Given the description of an element on the screen output the (x, y) to click on. 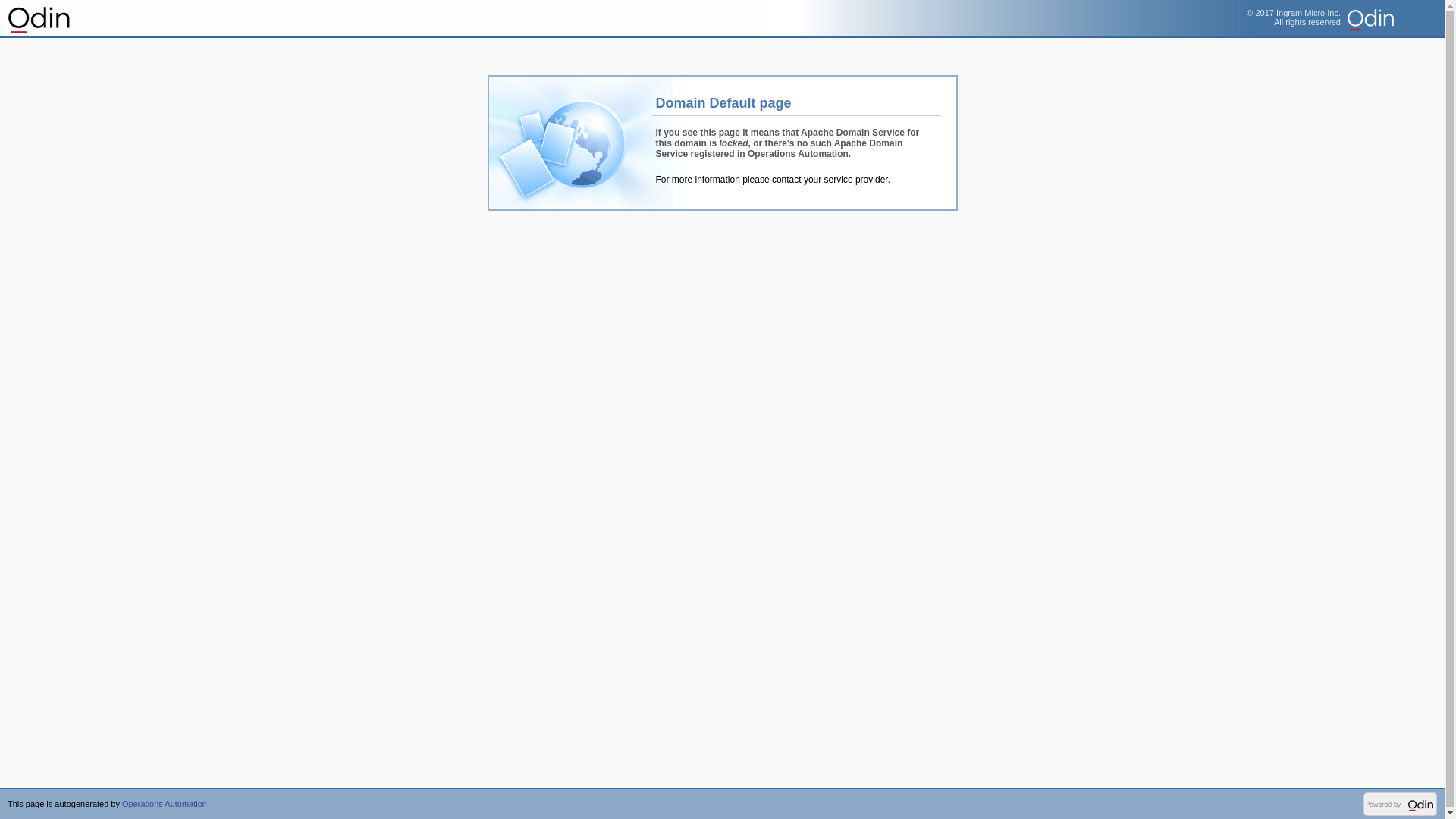
Powered by Odin Element type: hover (1400, 803)
Operations Automation Element type: text (164, 803)
Ingram Micro Inc. Element type: hover (1395, 18)
Operations Automation Element type: text (39, 18)
